Given the description of an element on the screen output the (x, y) to click on. 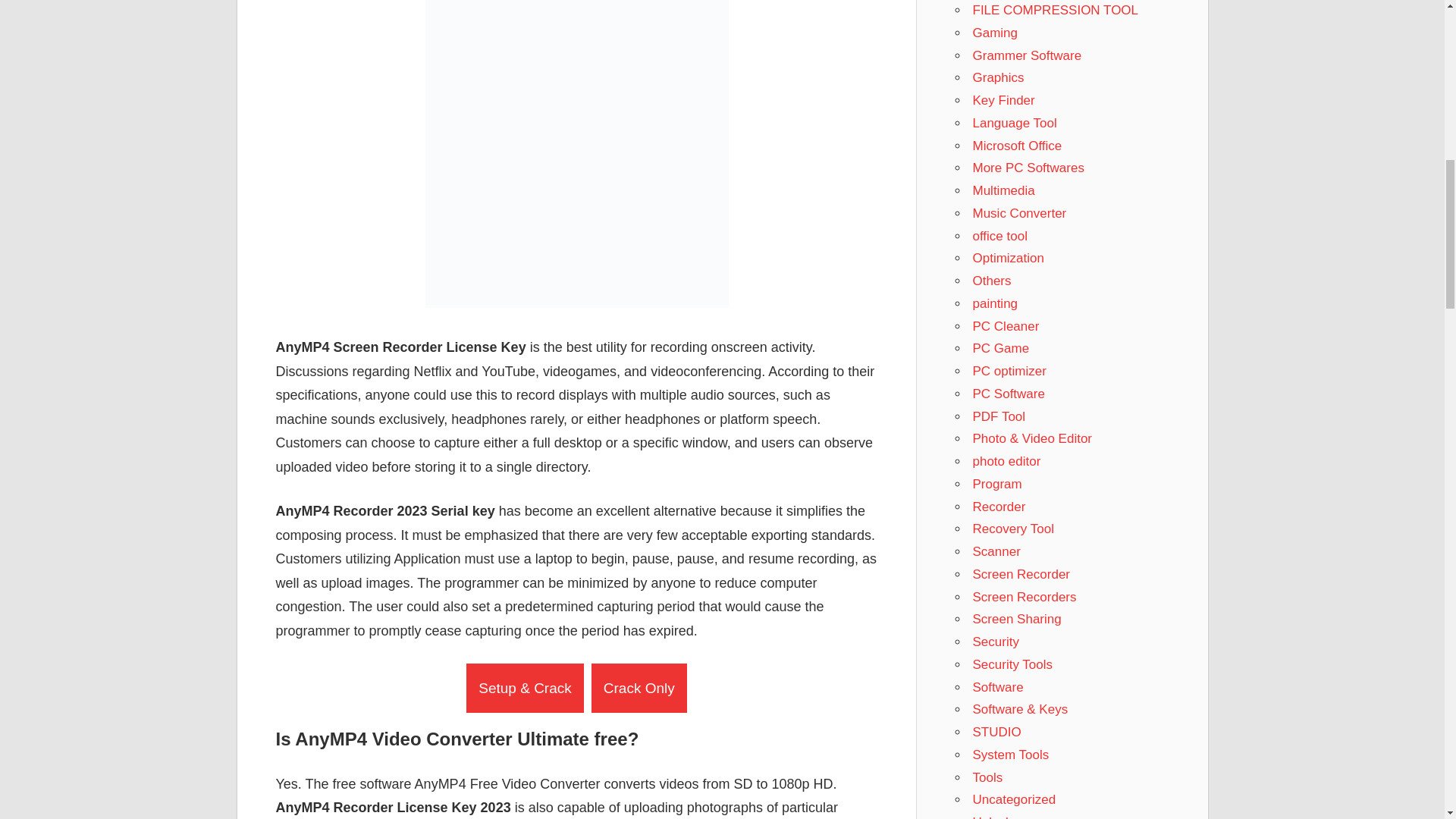
Crack Only (639, 687)
